Given the description of an element on the screen output the (x, y) to click on. 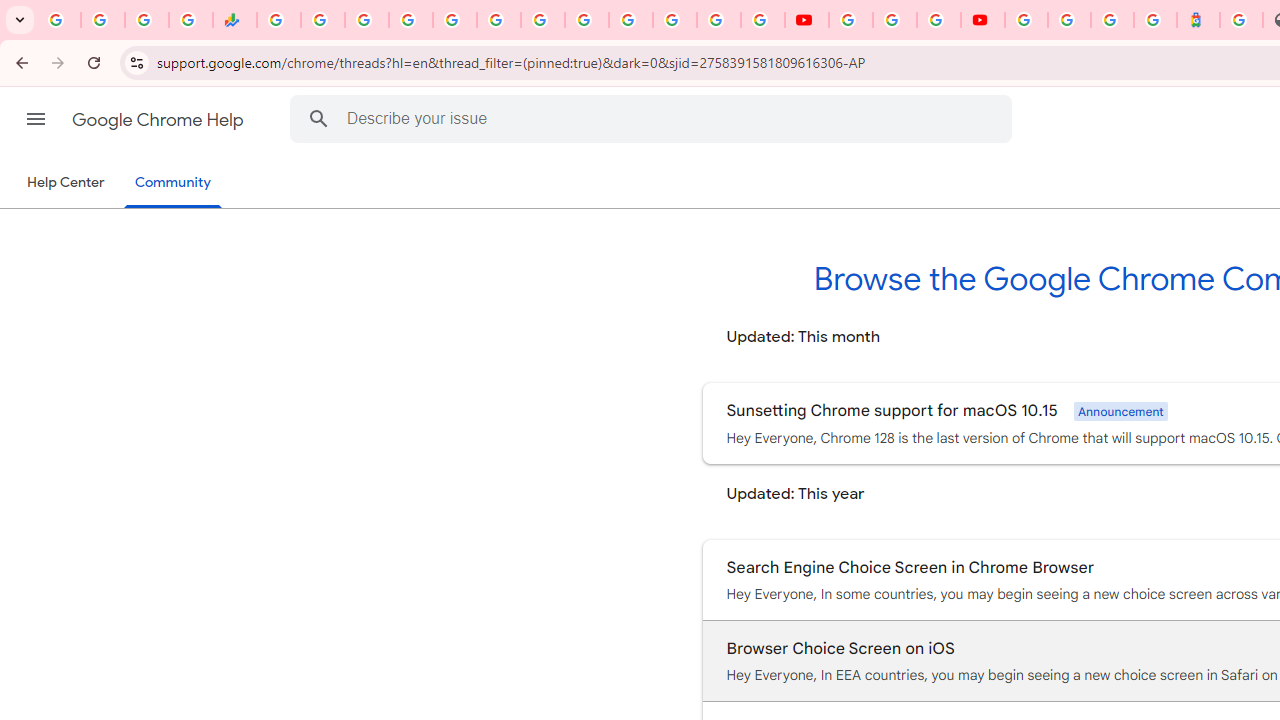
Community (171, 183)
Google Account Help (894, 20)
Describe your issue (653, 118)
